Given the description of an element on the screen output the (x, y) to click on. 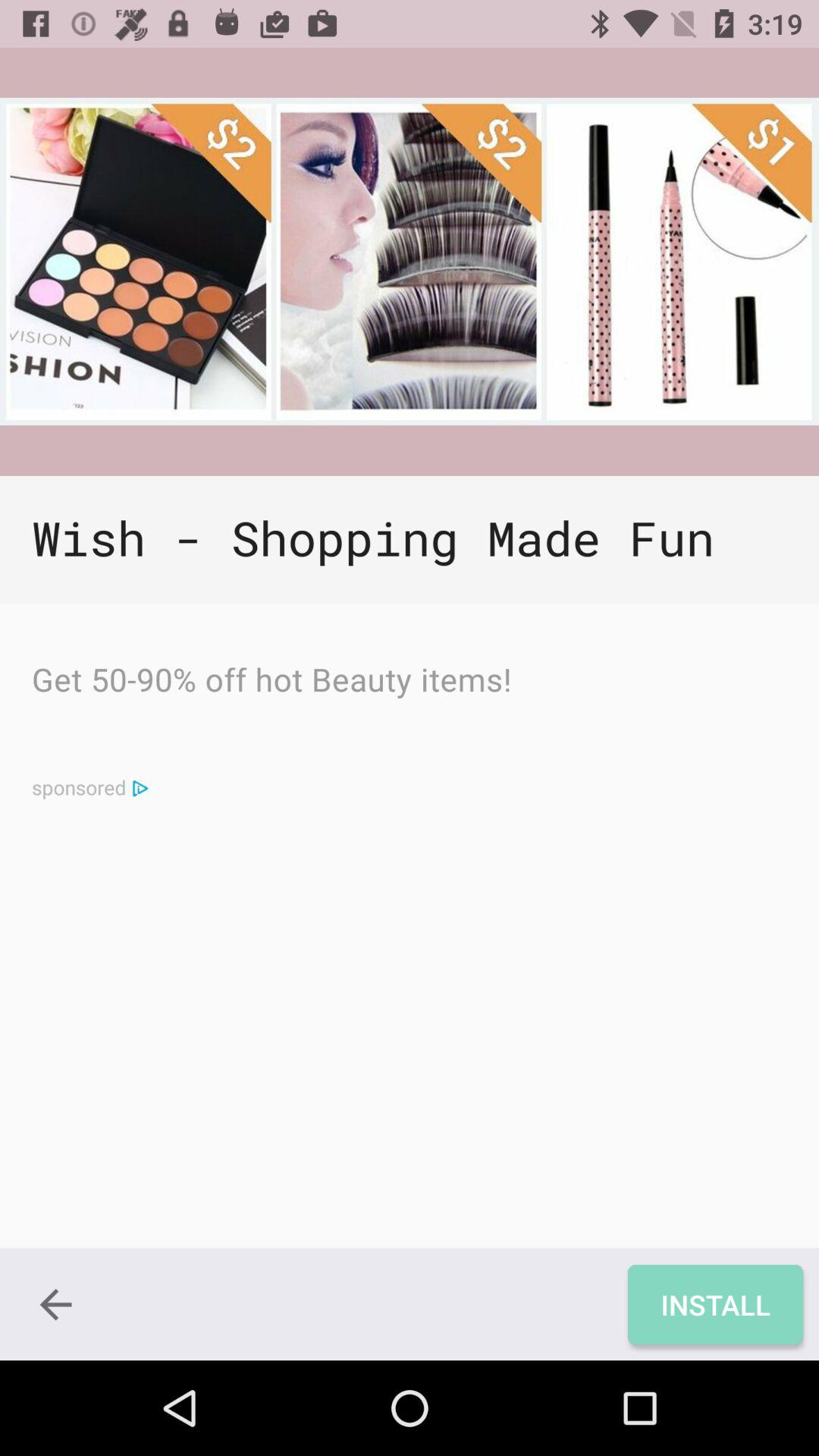
flip to the get 50 90 icon (271, 683)
